Given the description of an element on the screen output the (x, y) to click on. 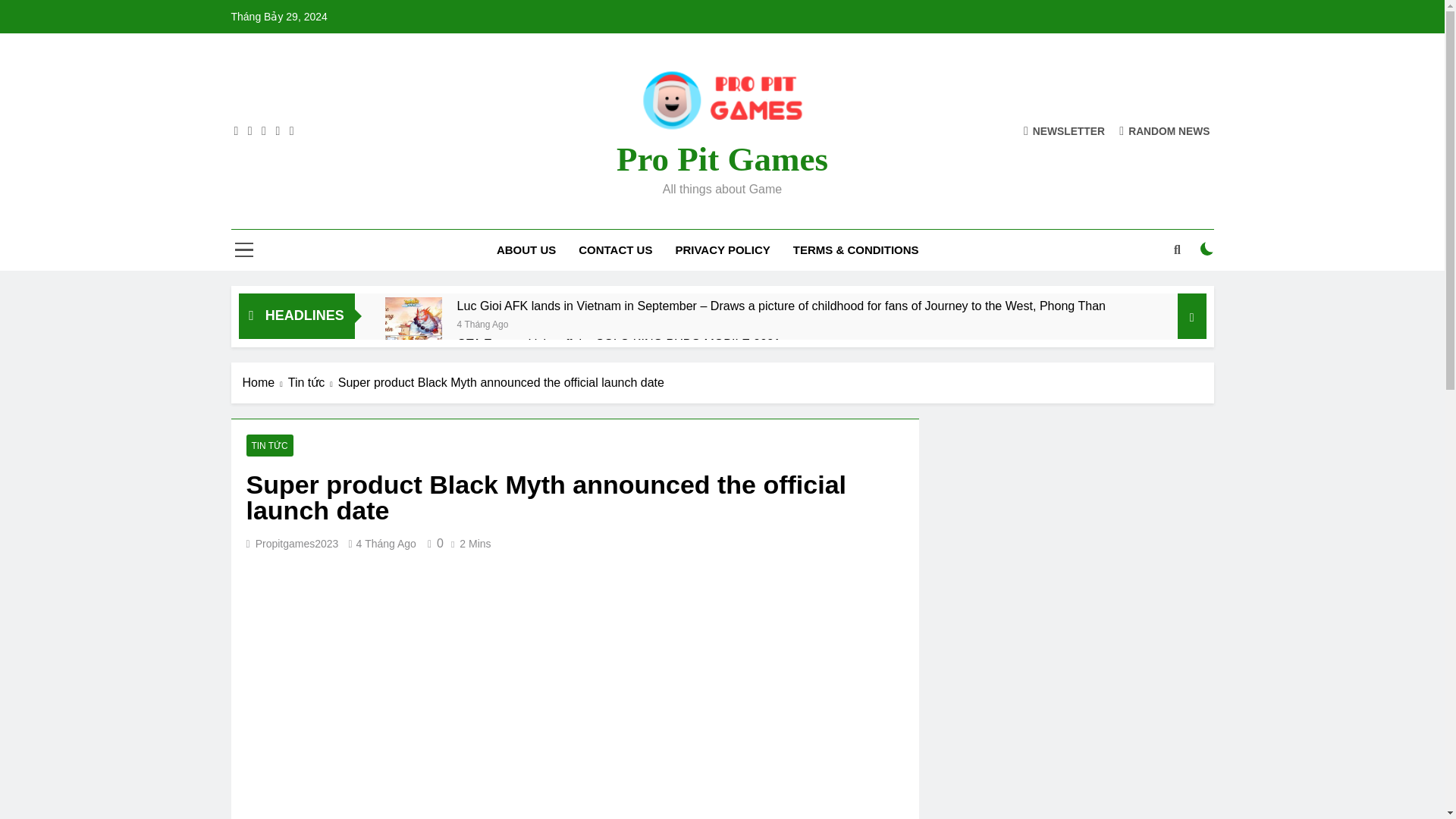
on (1206, 248)
NEWSLETTER (1064, 130)
CONTACT US (615, 250)
Pro Pit Games (721, 159)
PRIVACY POLICY (721, 250)
RANDOM NEWS (1164, 130)
ABOUT US (525, 250)
